Given the description of an element on the screen output the (x, y) to click on. 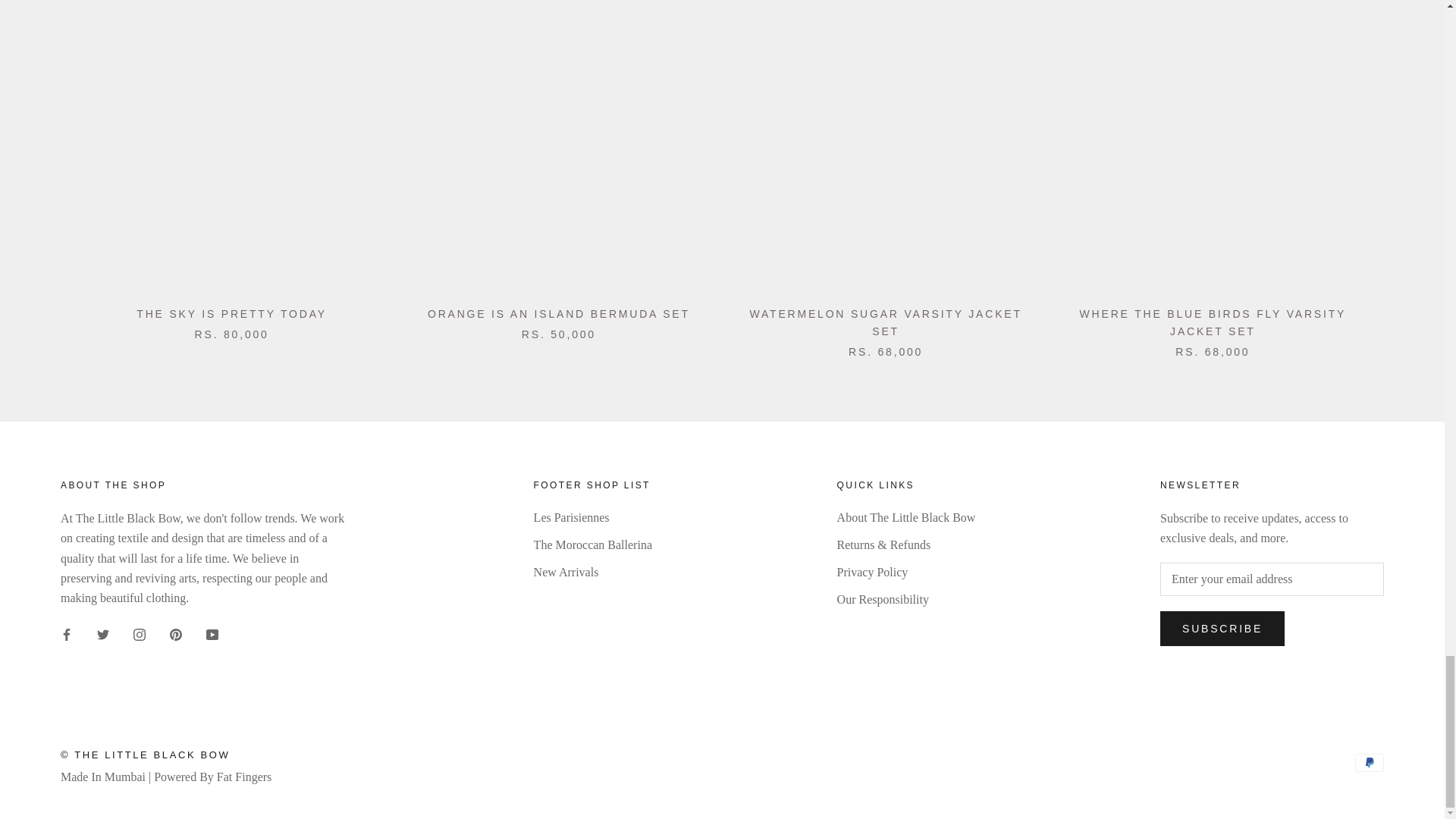
PayPal (1369, 762)
